Given the description of an element on the screen output the (x, y) to click on. 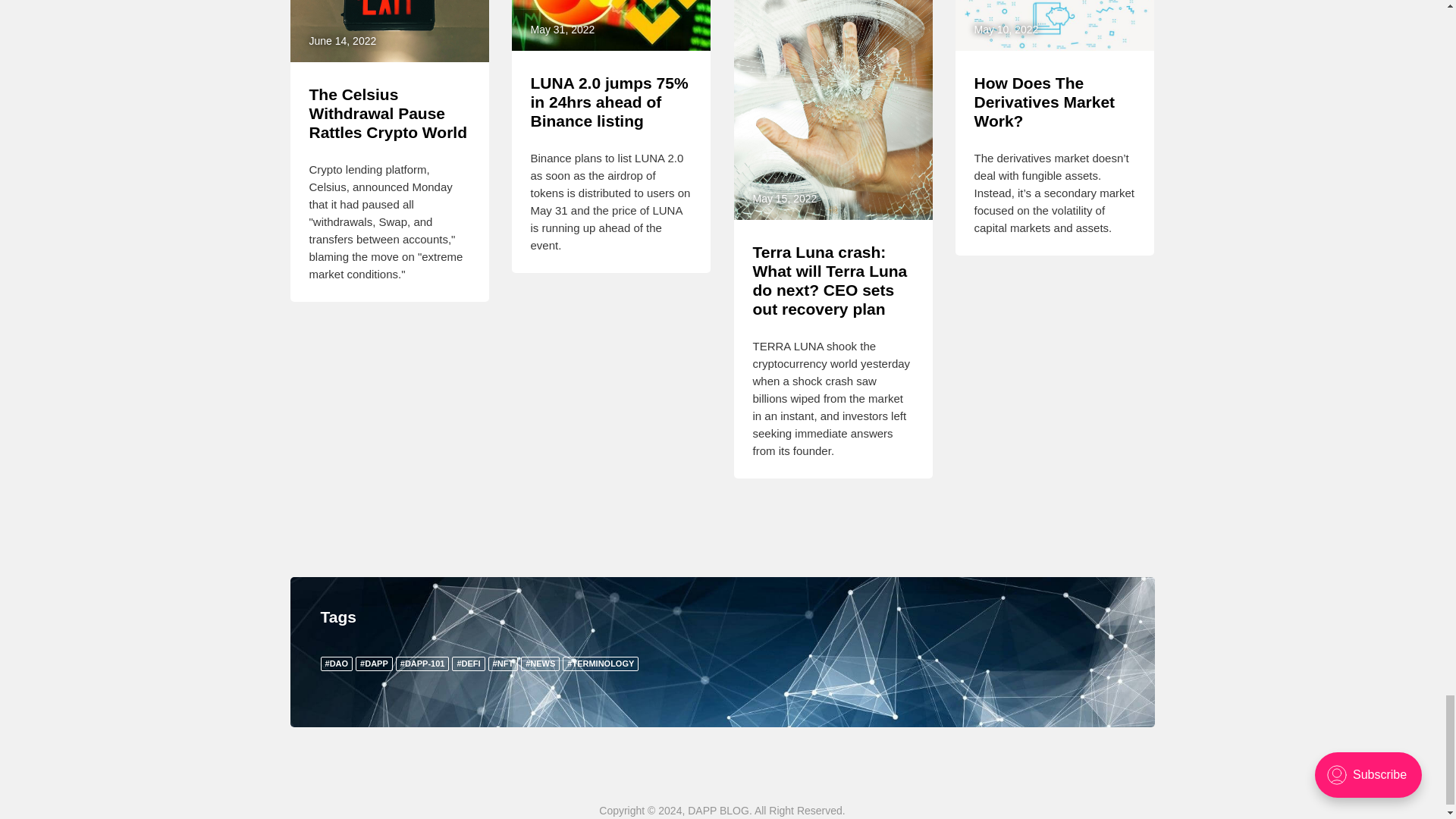
The Celsius Withdrawal Pause Rattles Crypto World (387, 112)
The Celsius Withdrawal Pause Rattles Crypto World (387, 112)
